Given the description of an element on the screen output the (x, y) to click on. 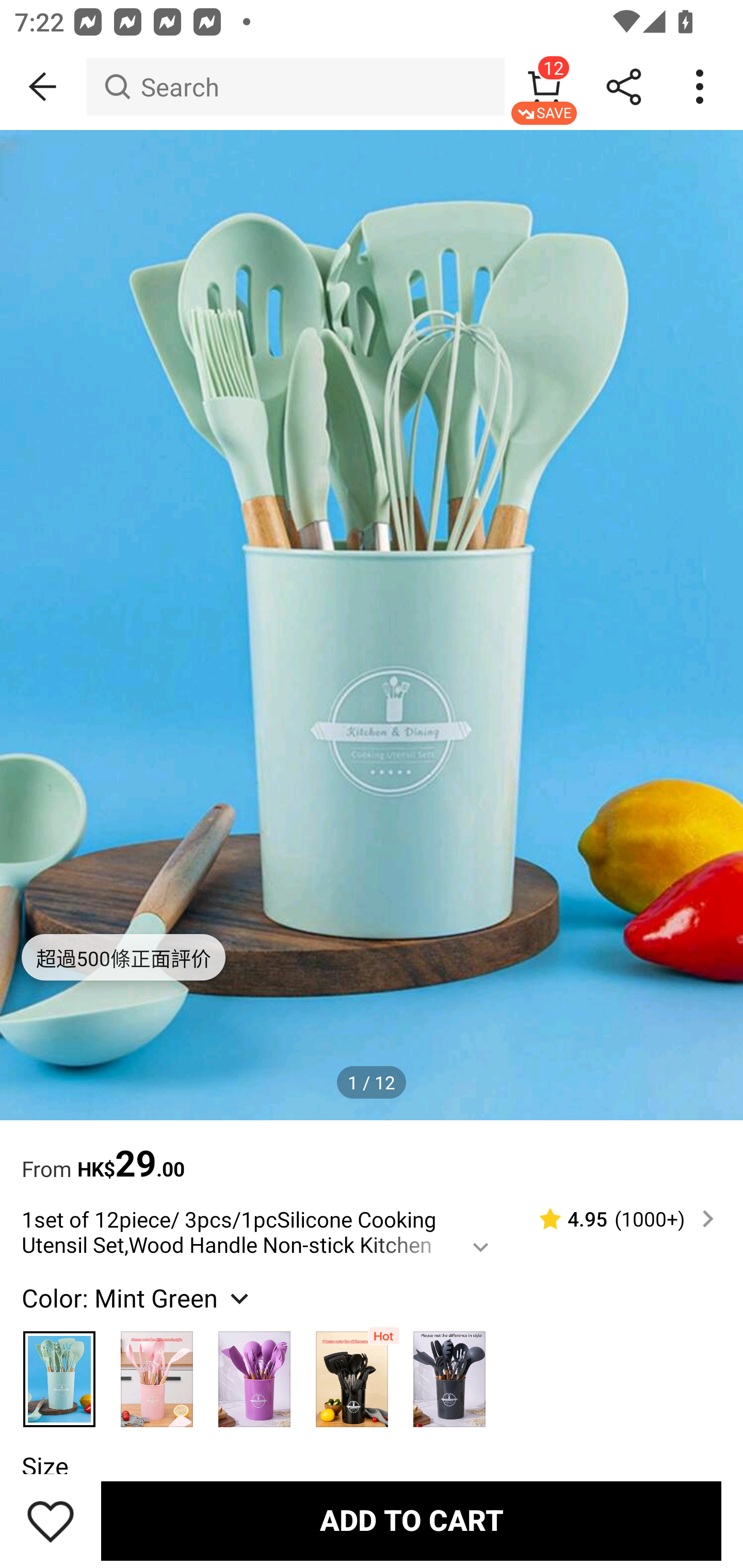
BACK (43, 86)
12 SAVE (543, 87)
Search (295, 87)
1 / 12 (371, 1082)
From  HK$29.00 (371, 1152)
4.95 (1000‎+) (617, 1219)
Color: Mint Green (137, 1297)
Mint Green (59, 1369)
Pink (156, 1369)
Purple (254, 1369)
Black (352, 1369)
Grey (449, 1369)
Size (44, 1465)
ADD TO CART (411, 1520)
Save (50, 1520)
